Given the description of an element on the screen output the (x, y) to click on. 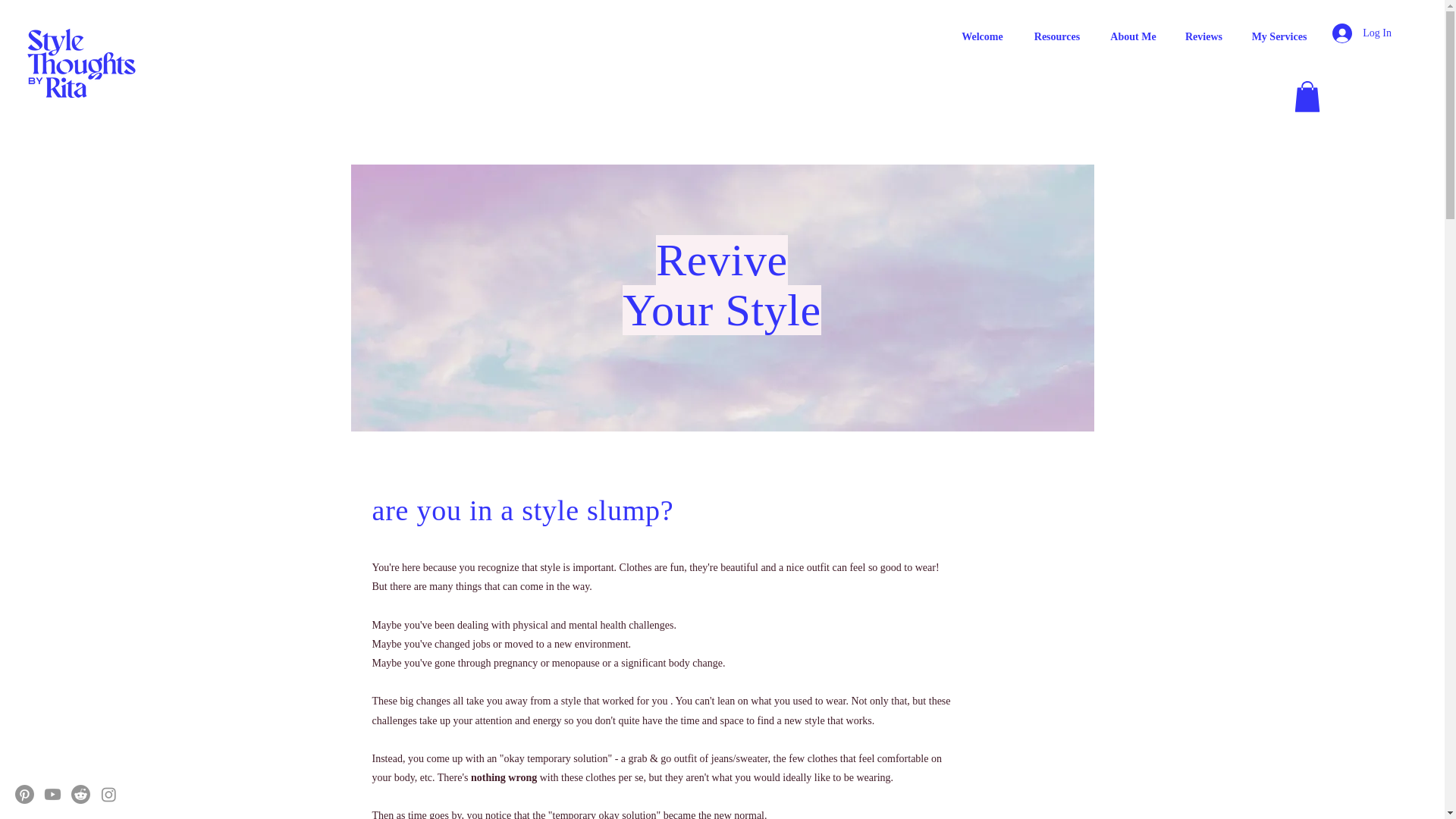
Welcome (981, 37)
My Services (1279, 37)
Log In (1362, 32)
Reviews (1203, 37)
Resources (1056, 37)
About Me (1133, 37)
